Given the description of an element on the screen output the (x, y) to click on. 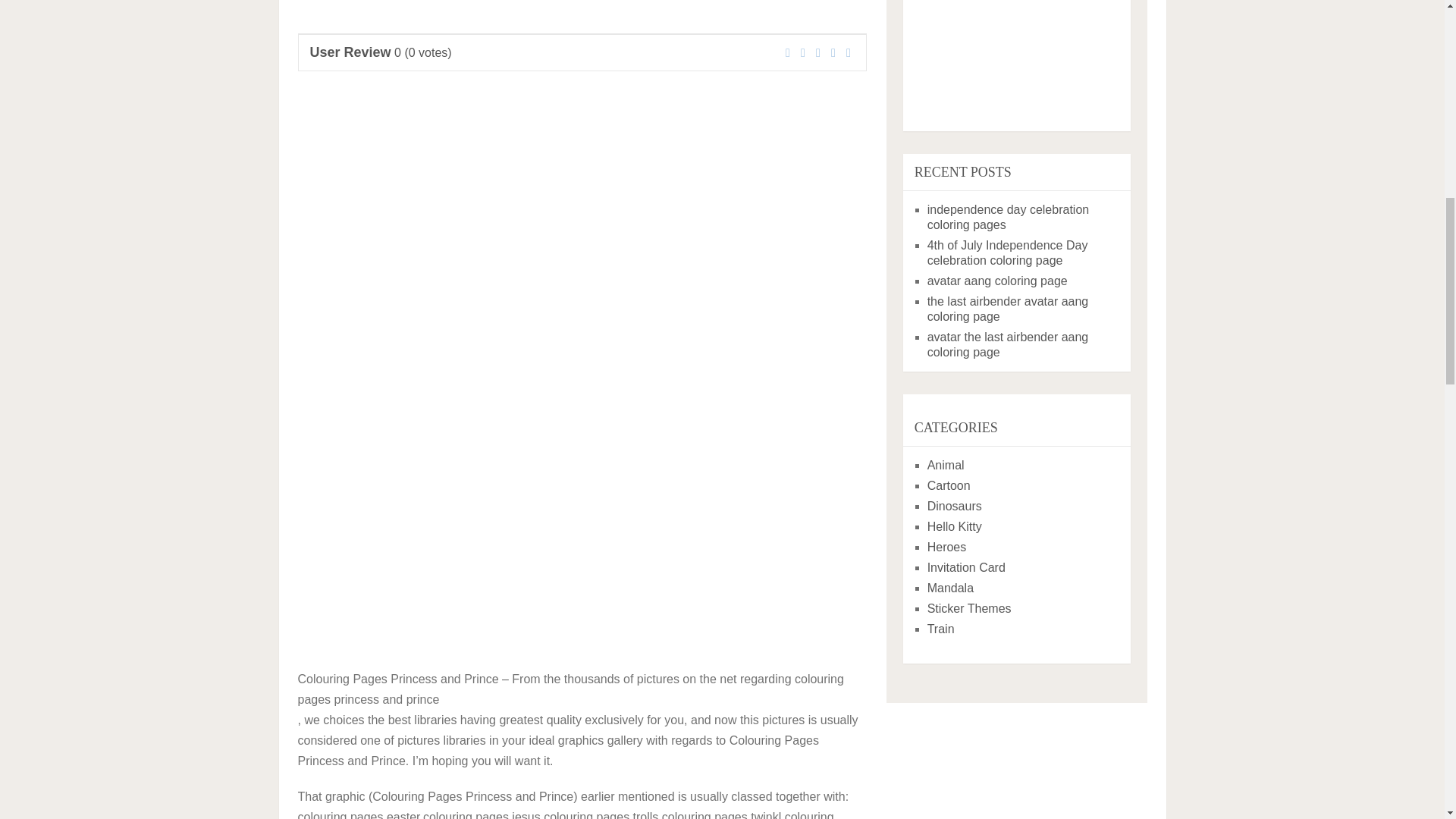
avatar the last airbender aang coloring page (1008, 344)
Animal (945, 464)
4th of July Independence Day celebration coloring page (1007, 252)
avatar aang coloring page (997, 280)
Advertisement (581, 7)
Dinosaurs (954, 505)
Cartoon (949, 485)
the last airbender avatar aang coloring page (1008, 308)
independence day celebration coloring pages (1008, 216)
